Given the description of an element on the screen output the (x, y) to click on. 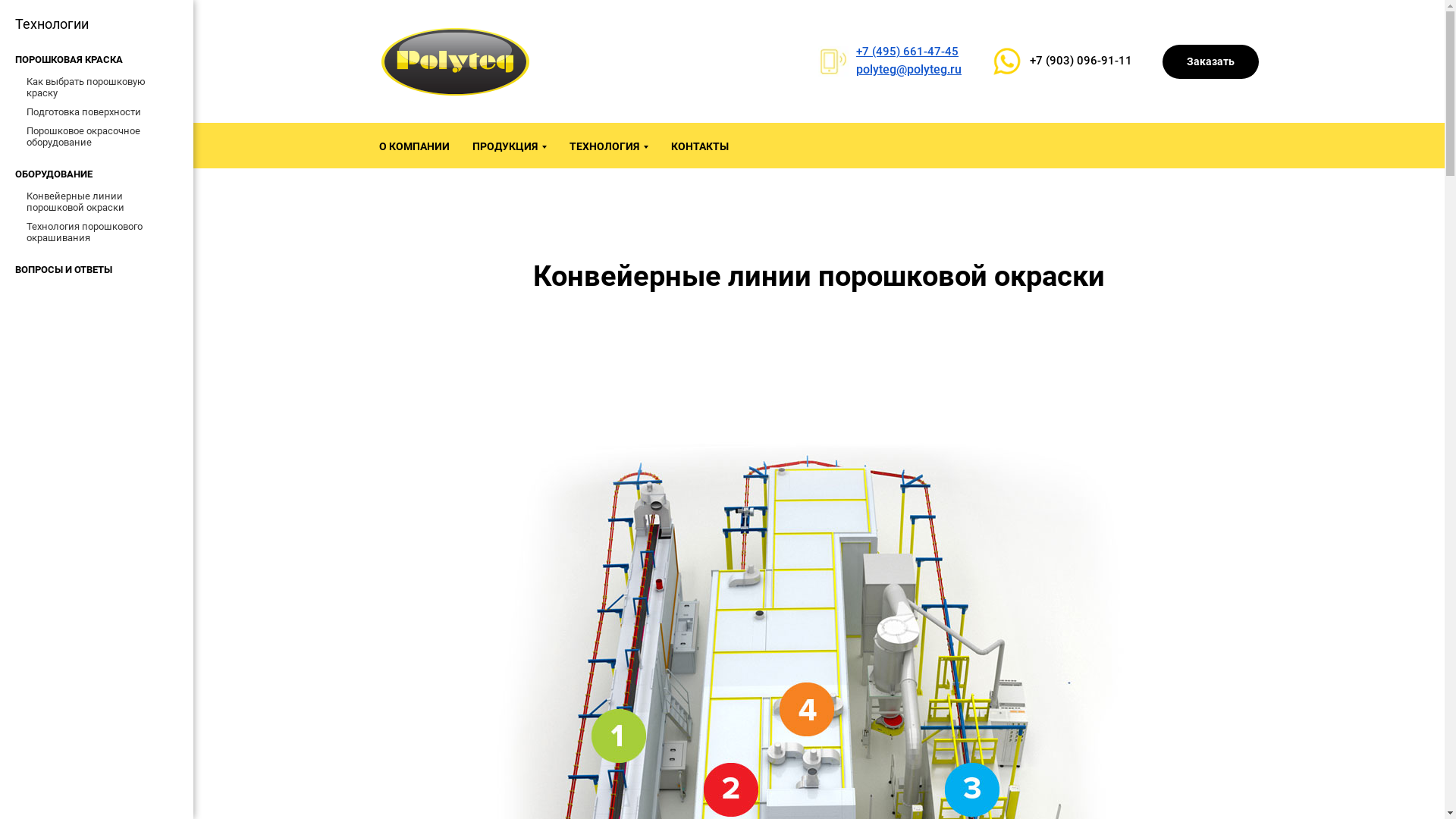
polyteg@polyteg.ru Element type: text (908, 69)
+7 (495) 661-47-45 Element type: text (907, 51)
